Given the description of an element on the screen output the (x, y) to click on. 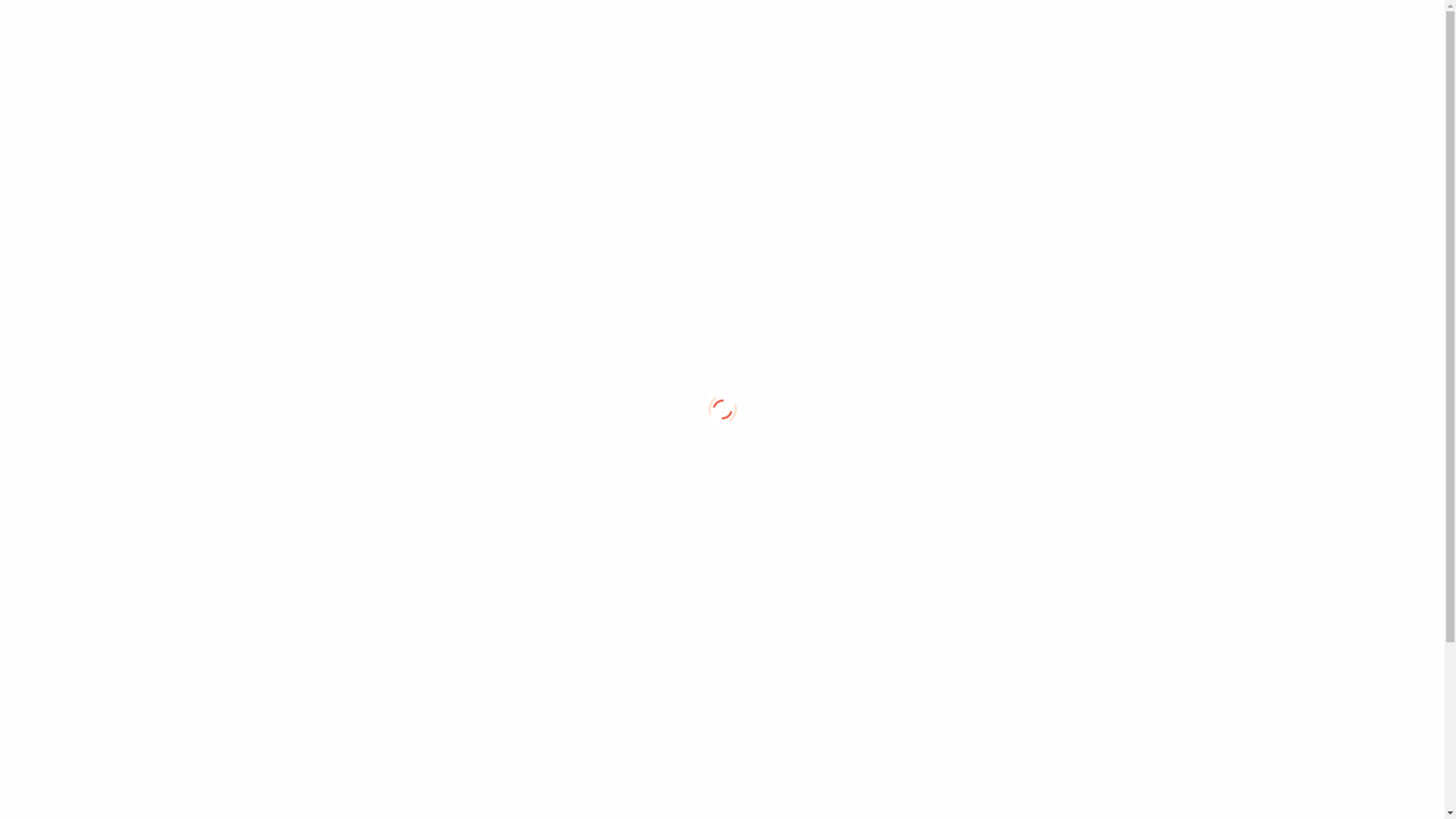
About Element type: text (1195, 28)
SERVICES Element type: text (409, 312)
HOME Element type: text (589, 184)
Contact Element type: text (1367, 28)
Massage for Your Mind Element type: text (77, 27)
Booking Element type: text (1309, 28)
LOGIN Element type: text (406, 427)
CONTACT Element type: text (582, 566)
BOOKING Element type: text (472, 526)
ABOUT Element type: text (479, 218)
Home Element type: text (1147, 28)
Services Element type: text (1249, 28)
Login Element type: text (1418, 28)
